Given the description of an element on the screen output the (x, y) to click on. 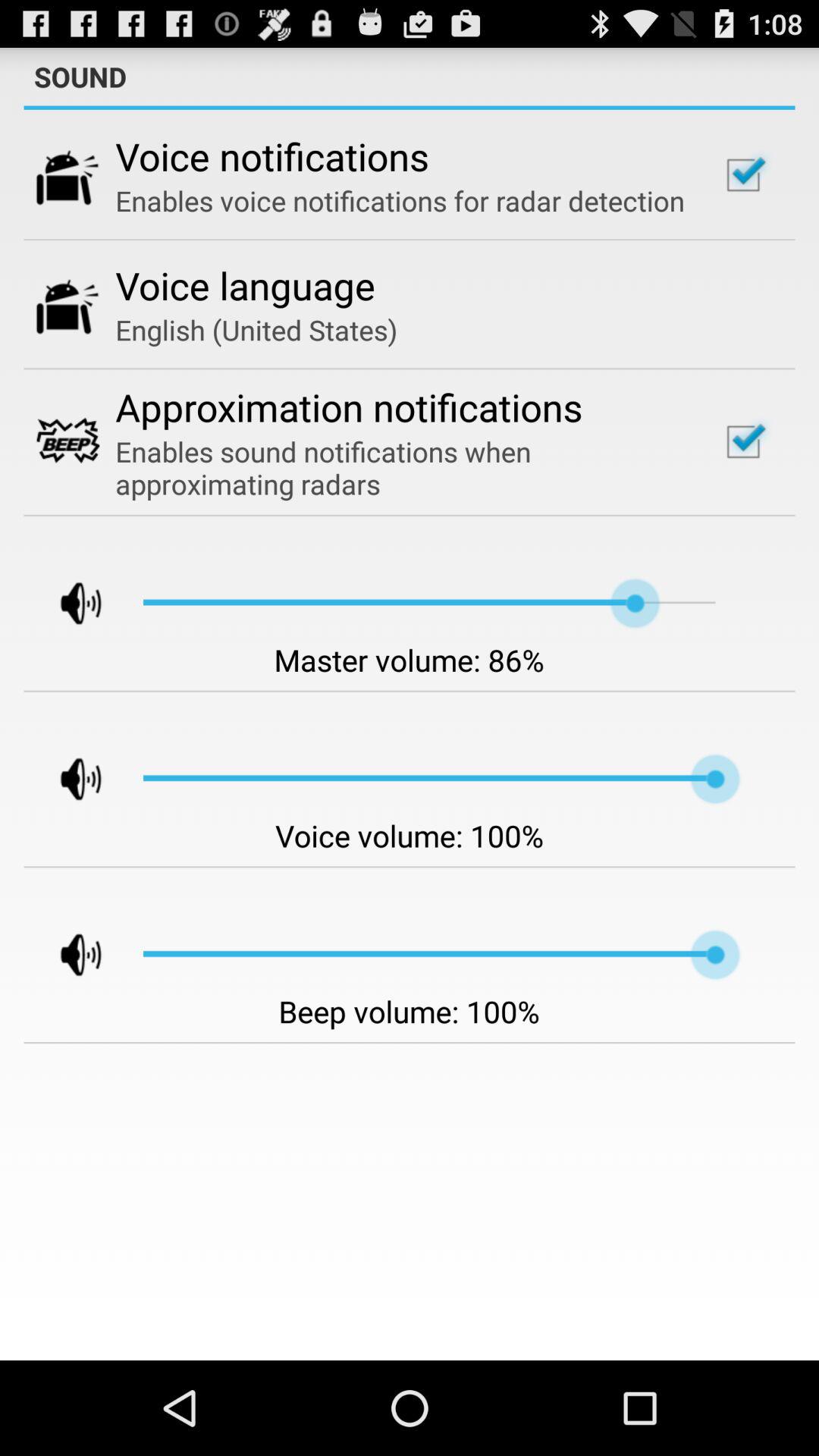
choose the app above approximation notifications (256, 329)
